Given the description of an element on the screen output the (x, y) to click on. 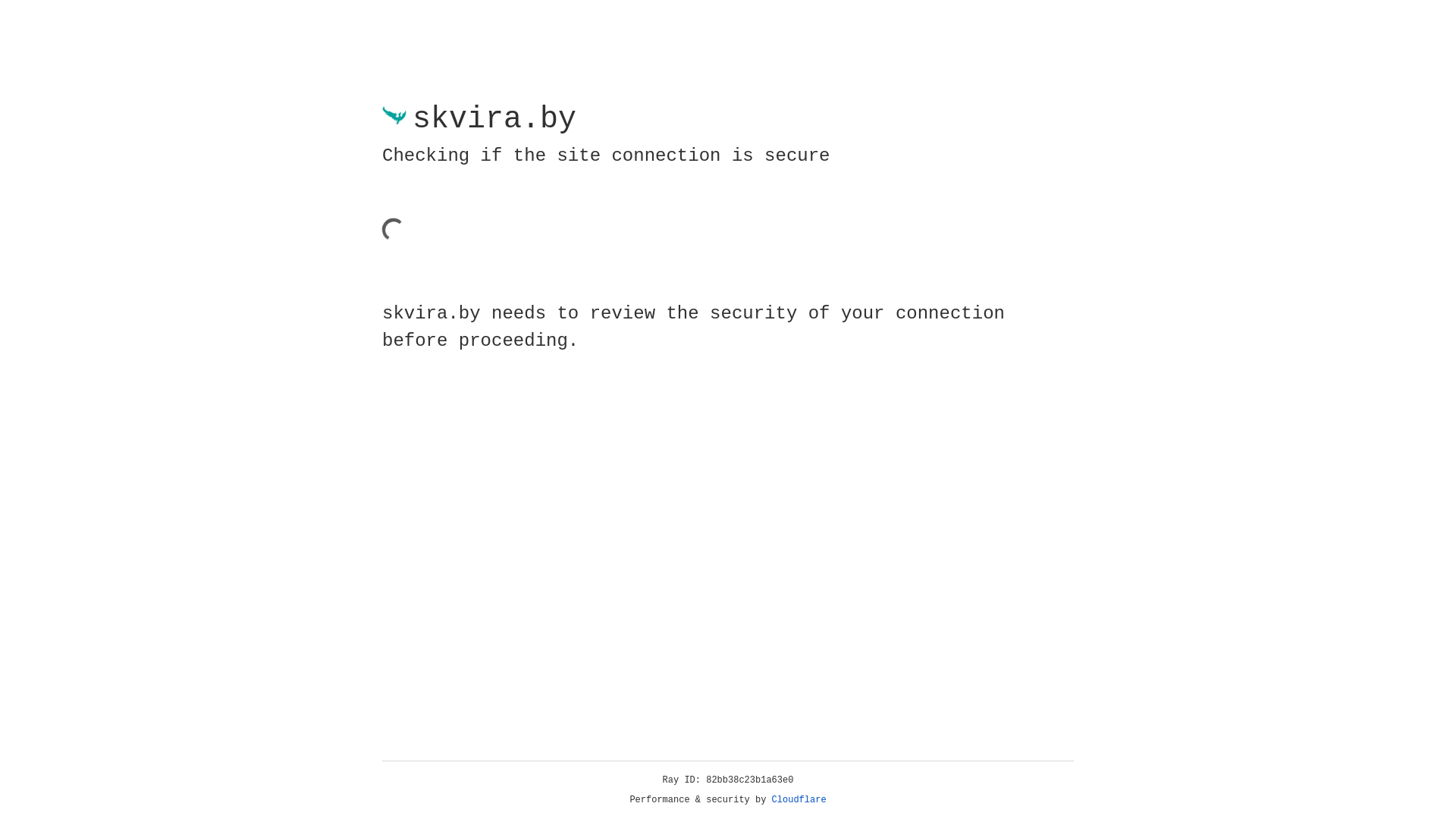
Cloudflare Element type: text (798, 799)
